Given the description of an element on the screen output the (x, y) to click on. 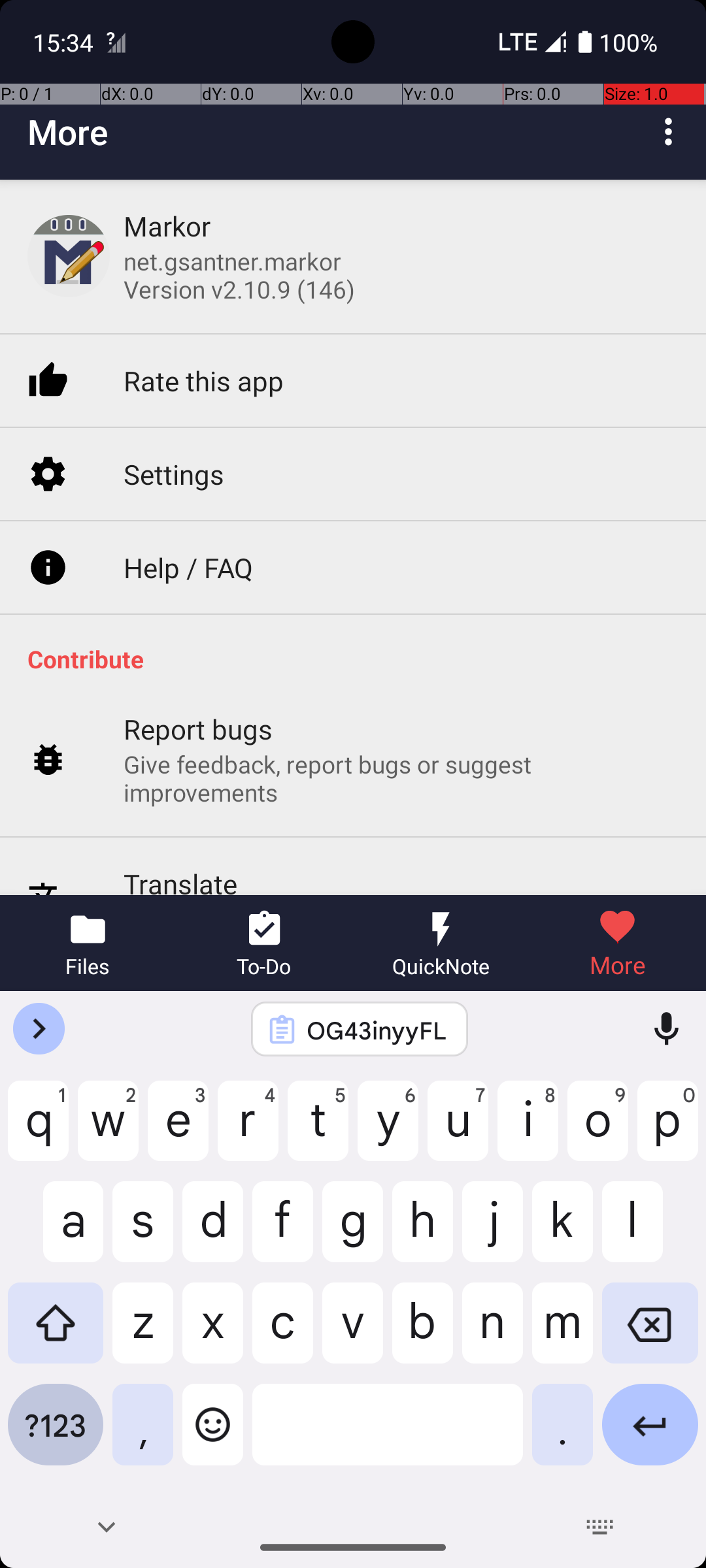
OG43inyyFL Element type: android.widget.TextView (376, 1029)
